Given the description of an element on the screen output the (x, y) to click on. 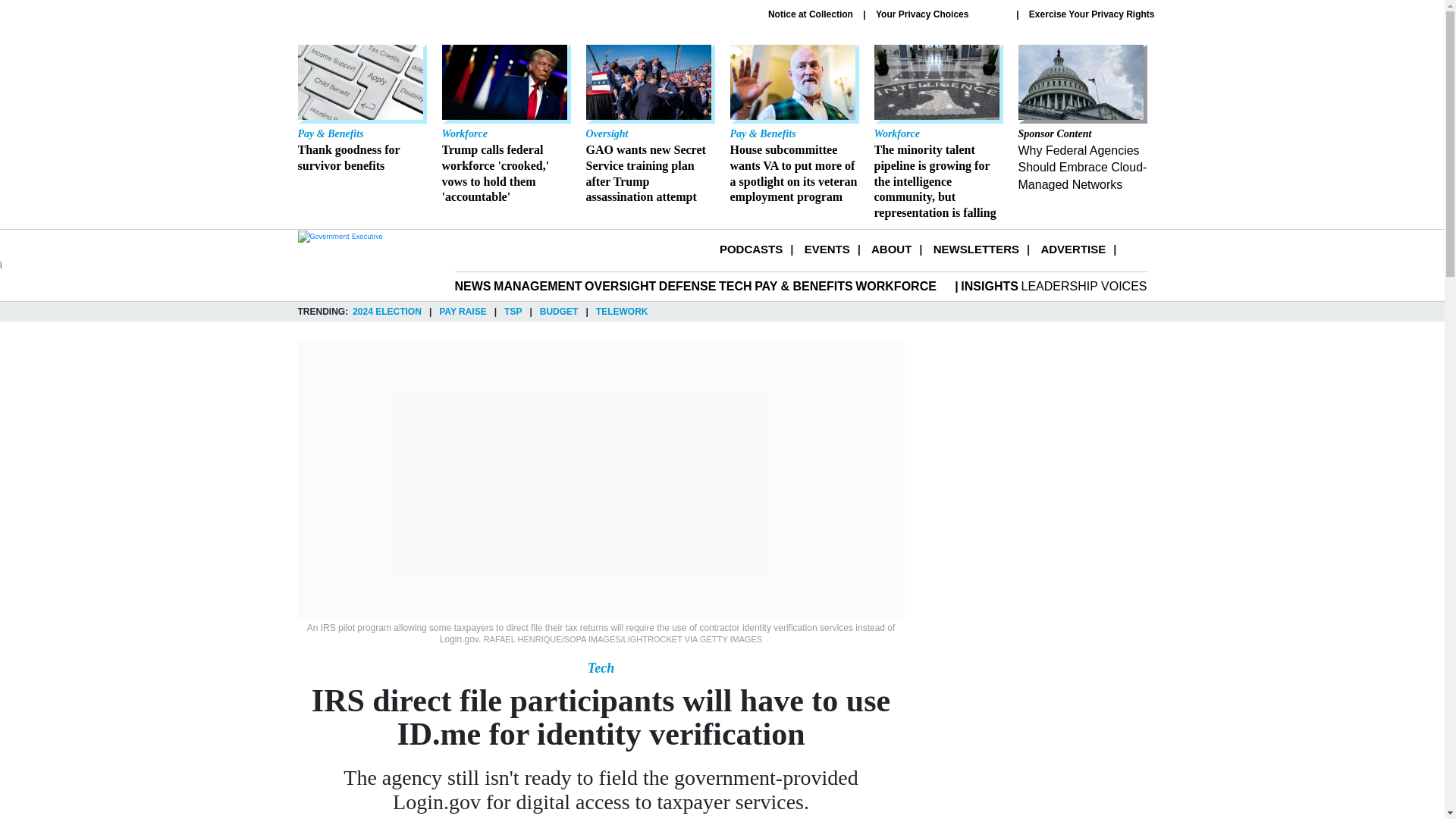
ADVERTISE (1073, 248)
Notice at Collection (810, 14)
EVENTS (827, 248)
Your Privacy Choices (941, 14)
PODCASTS (751, 248)
Exercise Your Privacy Rights (1091, 14)
ABOUT (890, 248)
NEWSLETTERS (976, 248)
